Given the description of an element on the screen output the (x, y) to click on. 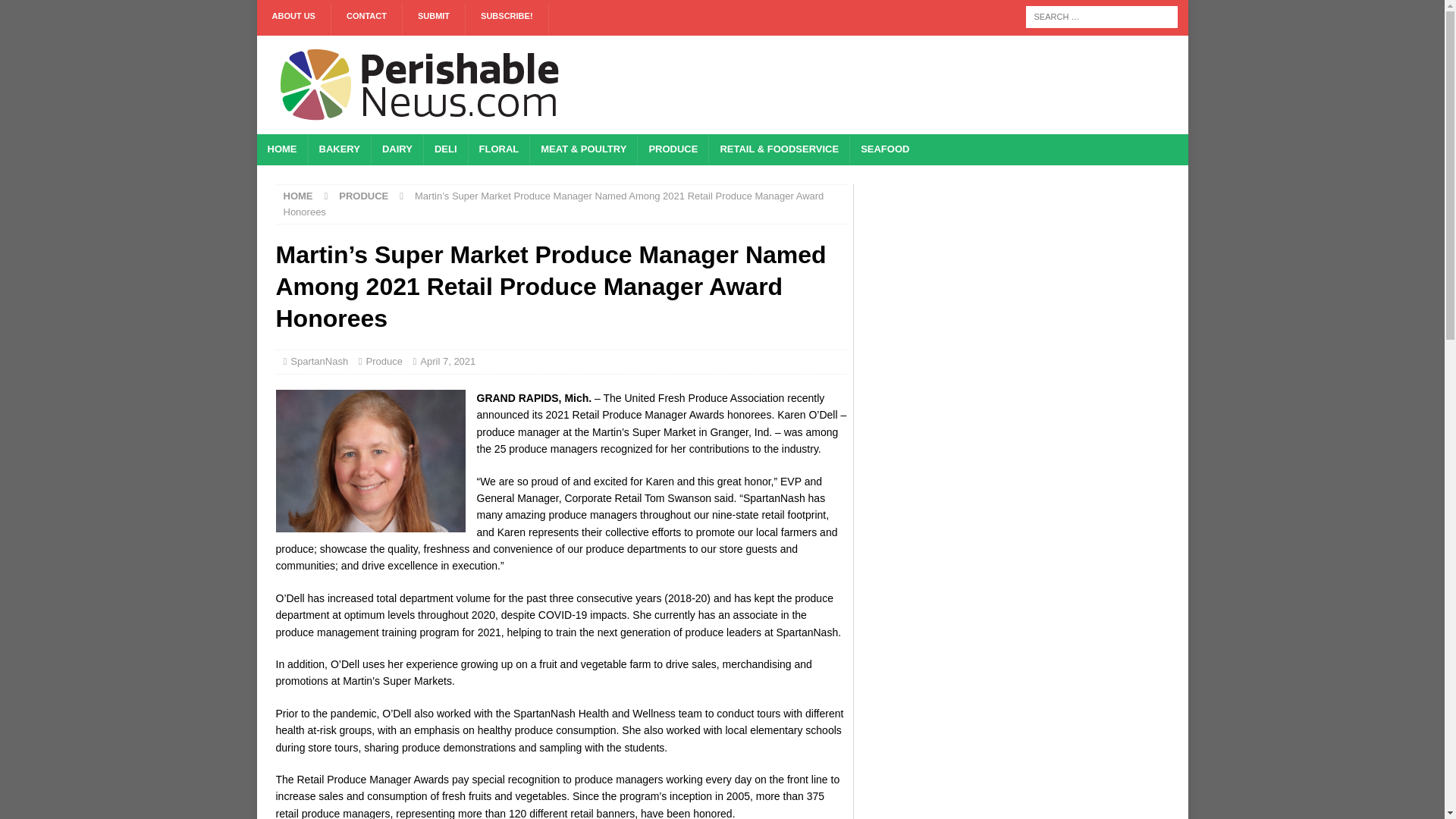
ABOUT US (293, 19)
BAKERY (339, 149)
SUBSCRIBE! (506, 19)
3rd party ad content (890, 84)
SUBMIT (434, 19)
Search (56, 11)
FLORAL (498, 149)
DAIRY (397, 149)
CONTACT (367, 19)
HOME (298, 195)
